Given the description of an element on the screen output the (x, y) to click on. 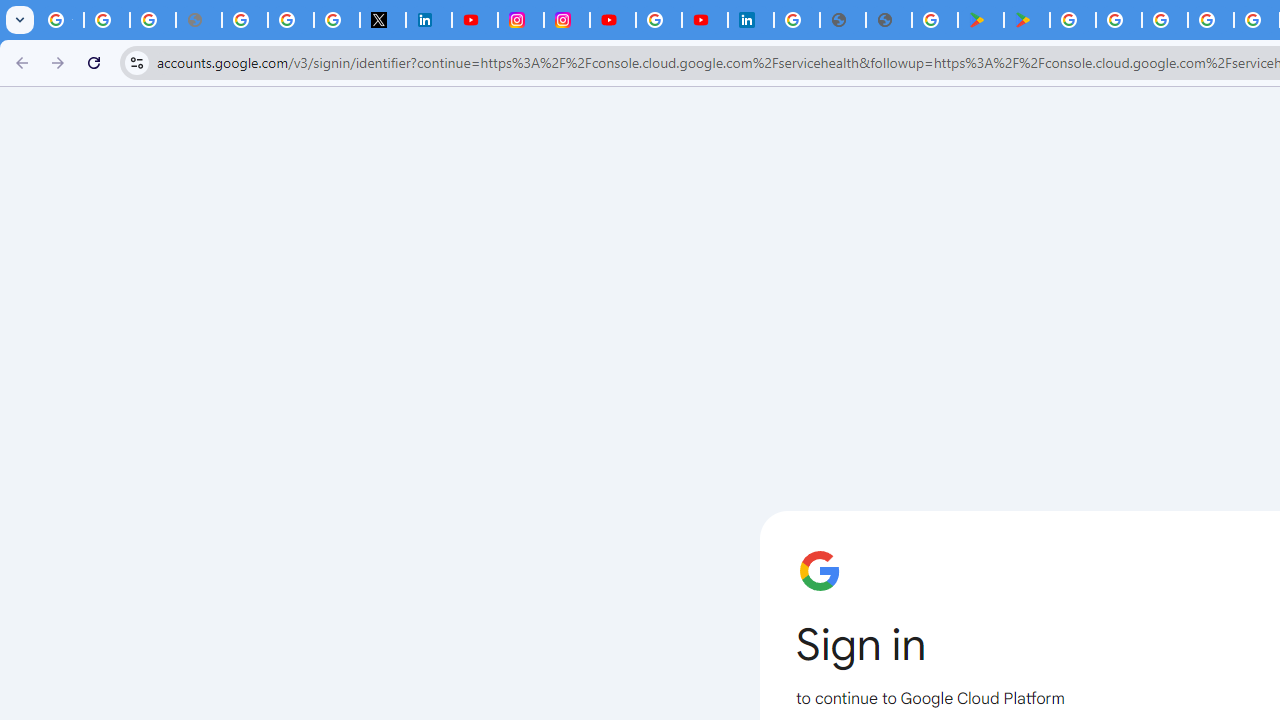
X (382, 20)
Privacy Help Center - Policies Help (244, 20)
Android Apps on Google Play (980, 20)
support.google.com - Network error (198, 20)
YouTube Content Monetization Policies - How YouTube Works (474, 20)
